Given the description of an element on the screen output the (x, y) to click on. 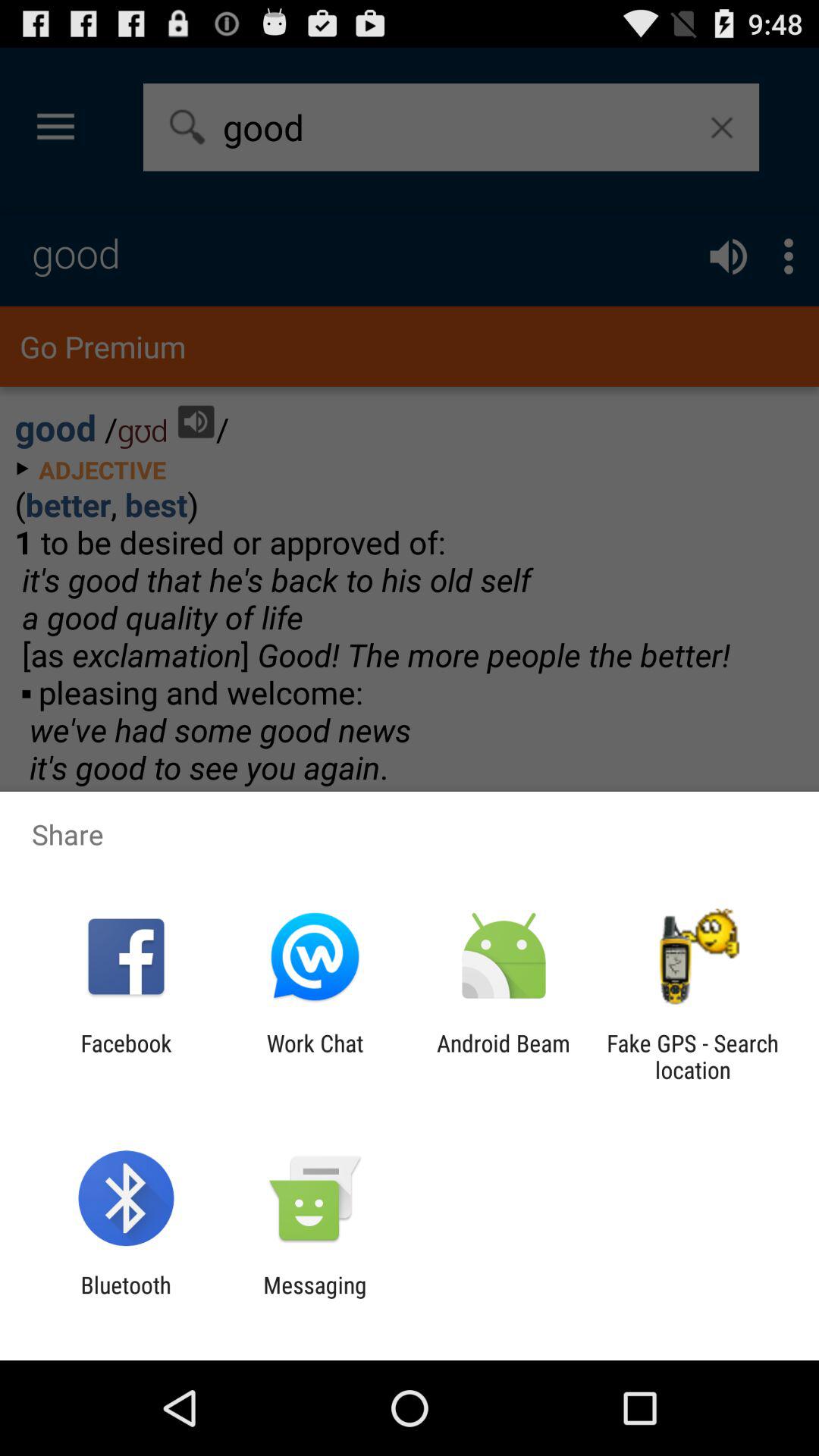
swipe to the bluetooth icon (125, 1298)
